Given the description of an element on the screen output the (x, y) to click on. 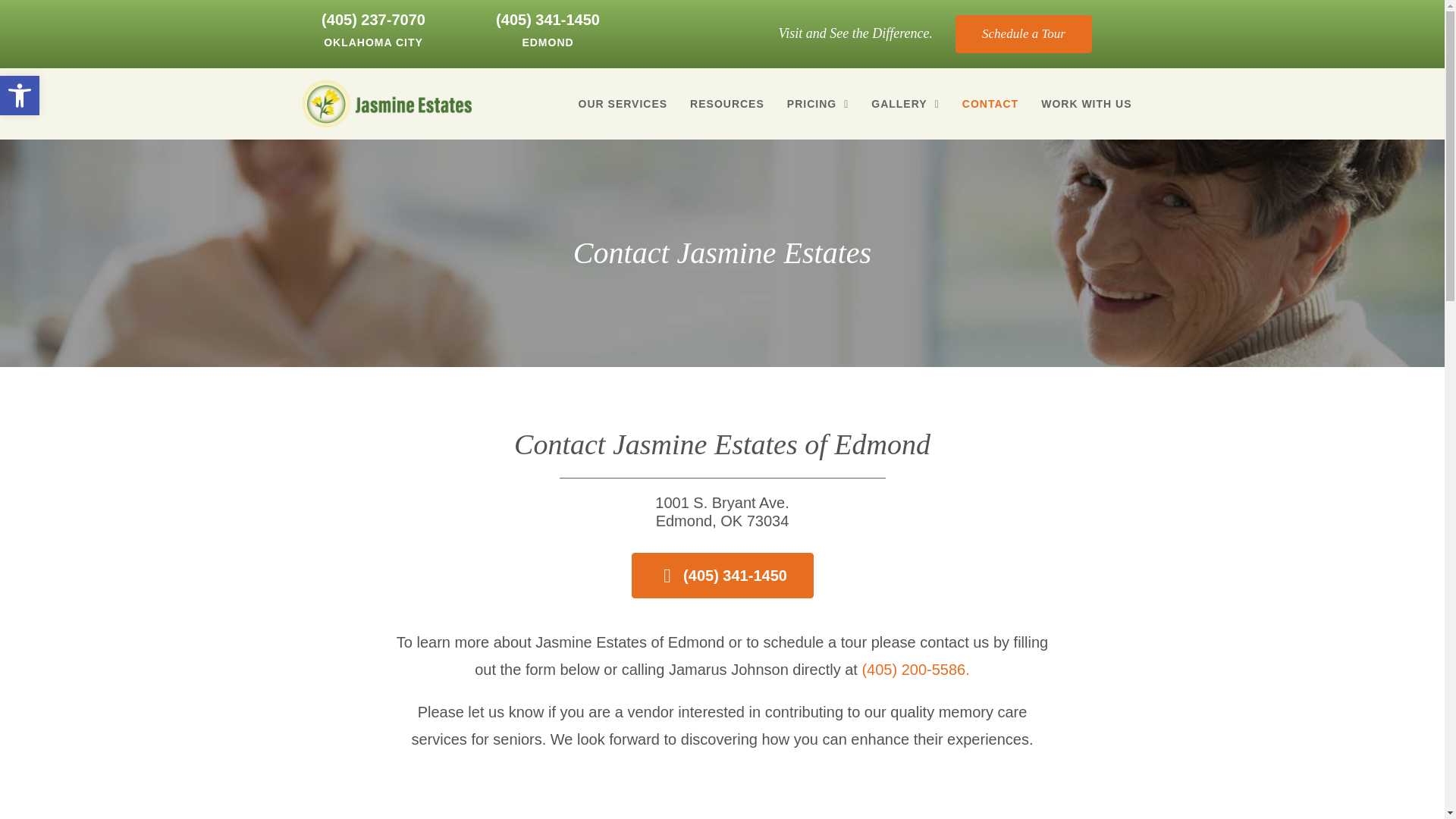
Schedule a Tour (1023, 34)
WORK WITH US (19, 95)
GALLERY (1085, 103)
OUR SERVICES (905, 103)
RESOURCES (622, 103)
CONTACT (726, 103)
Jasmine Estates Horizontal Logo (990, 103)
PRICING (386, 103)
Accessibility Tools (817, 103)
Accessibility Tools (19, 95)
